Given the description of an element on the screen output the (x, y) to click on. 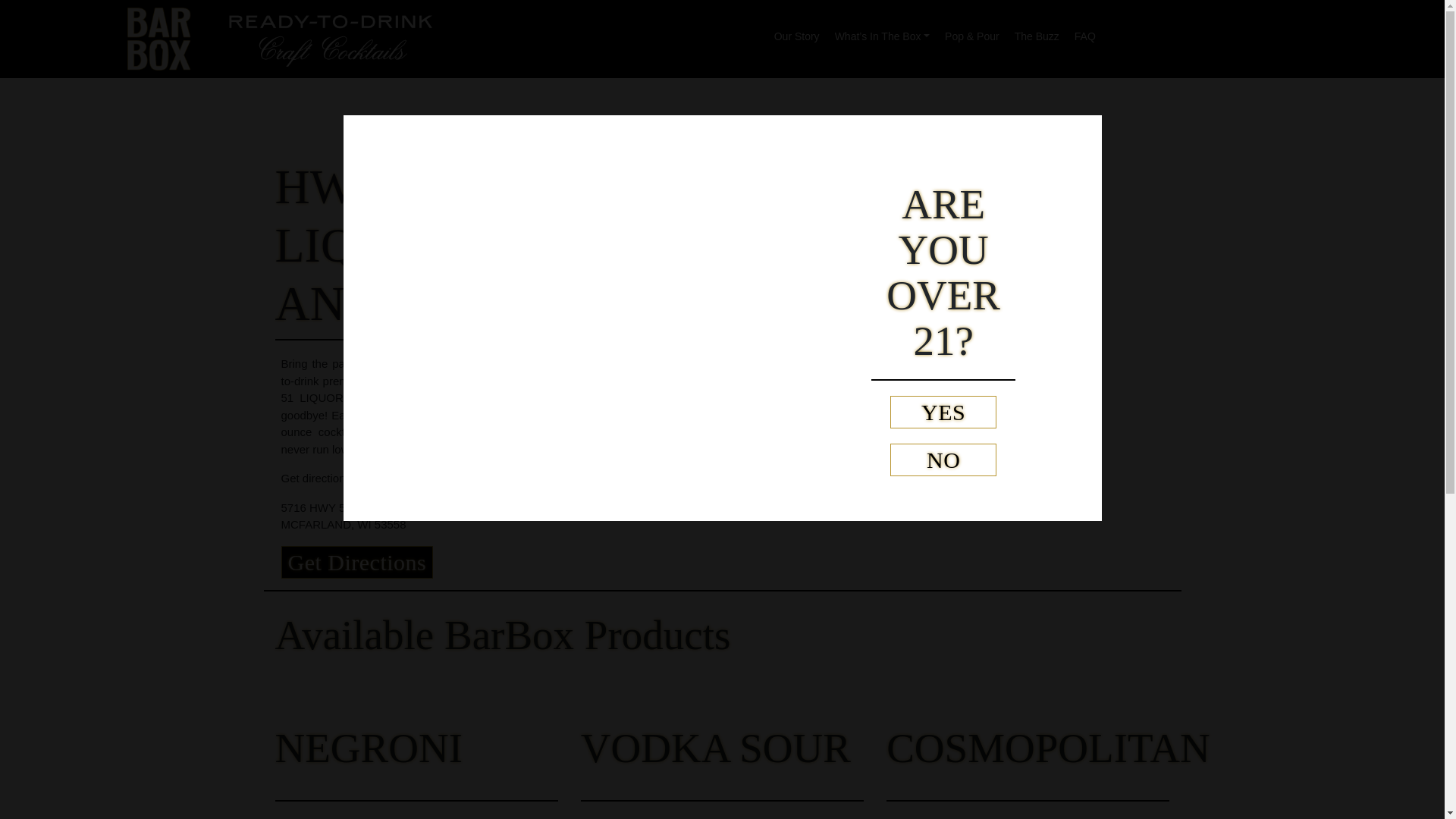
Our Story (797, 32)
NEGRONI (368, 747)
FAQ (1085, 32)
VODKA SOUR (715, 747)
NO (942, 459)
The Buzz (1037, 32)
COSMOPOLITAN (1047, 747)
Get Directions (356, 562)
YES (942, 411)
